Given the description of an element on the screen output the (x, y) to click on. 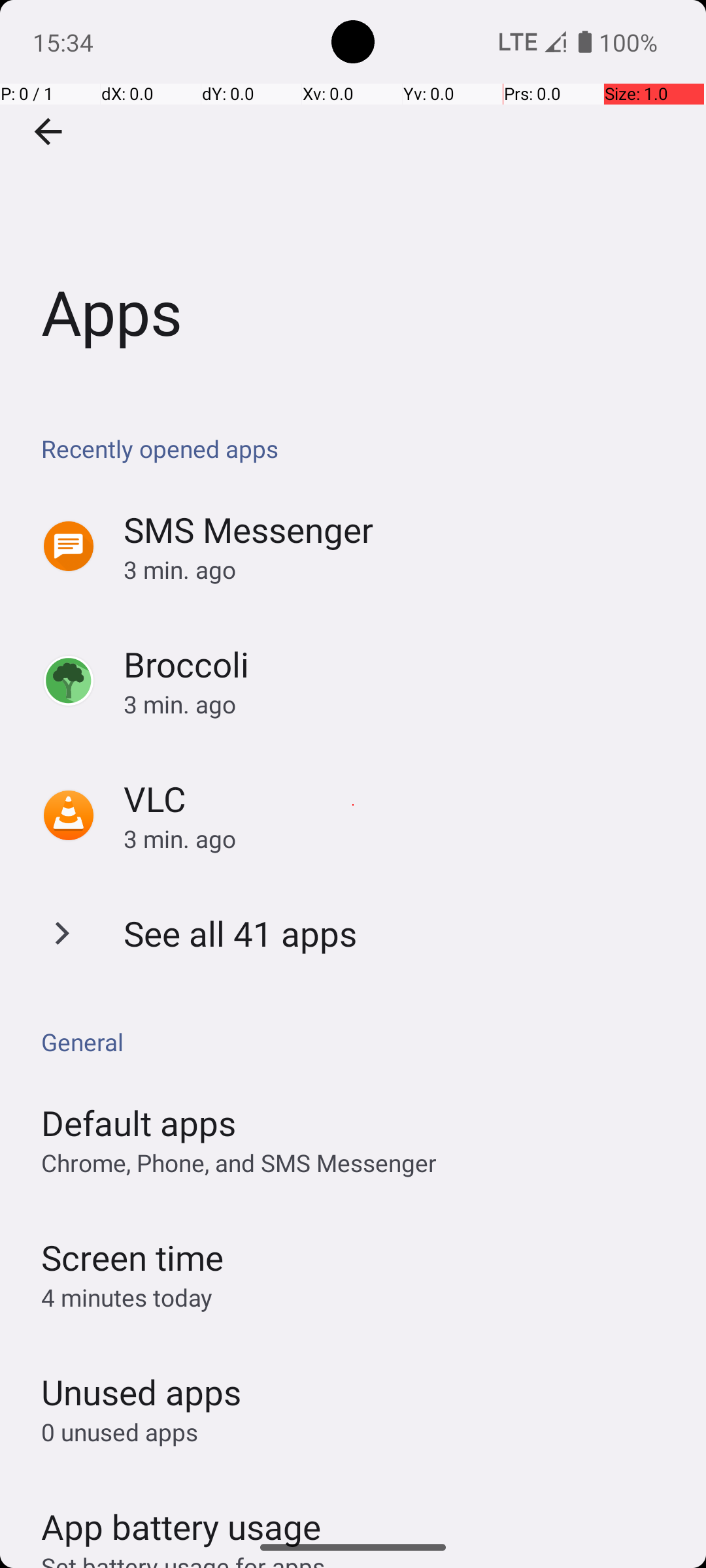
Recently opened apps Element type: android.widget.TextView (359, 448)
3 min. ago Element type: android.widget.TextView (400, 569)
See all 41 apps Element type: android.widget.TextView (239, 933)
Default apps Element type: android.widget.TextView (138, 1122)
Chrome, Phone, and SMS Messenger Element type: android.widget.TextView (238, 1162)
4 minutes today Element type: android.widget.TextView (127, 1296)
Unused apps Element type: android.widget.TextView (141, 1391)
0 unused apps Element type: android.widget.TextView (119, 1431)
